Given the description of an element on the screen output the (x, y) to click on. 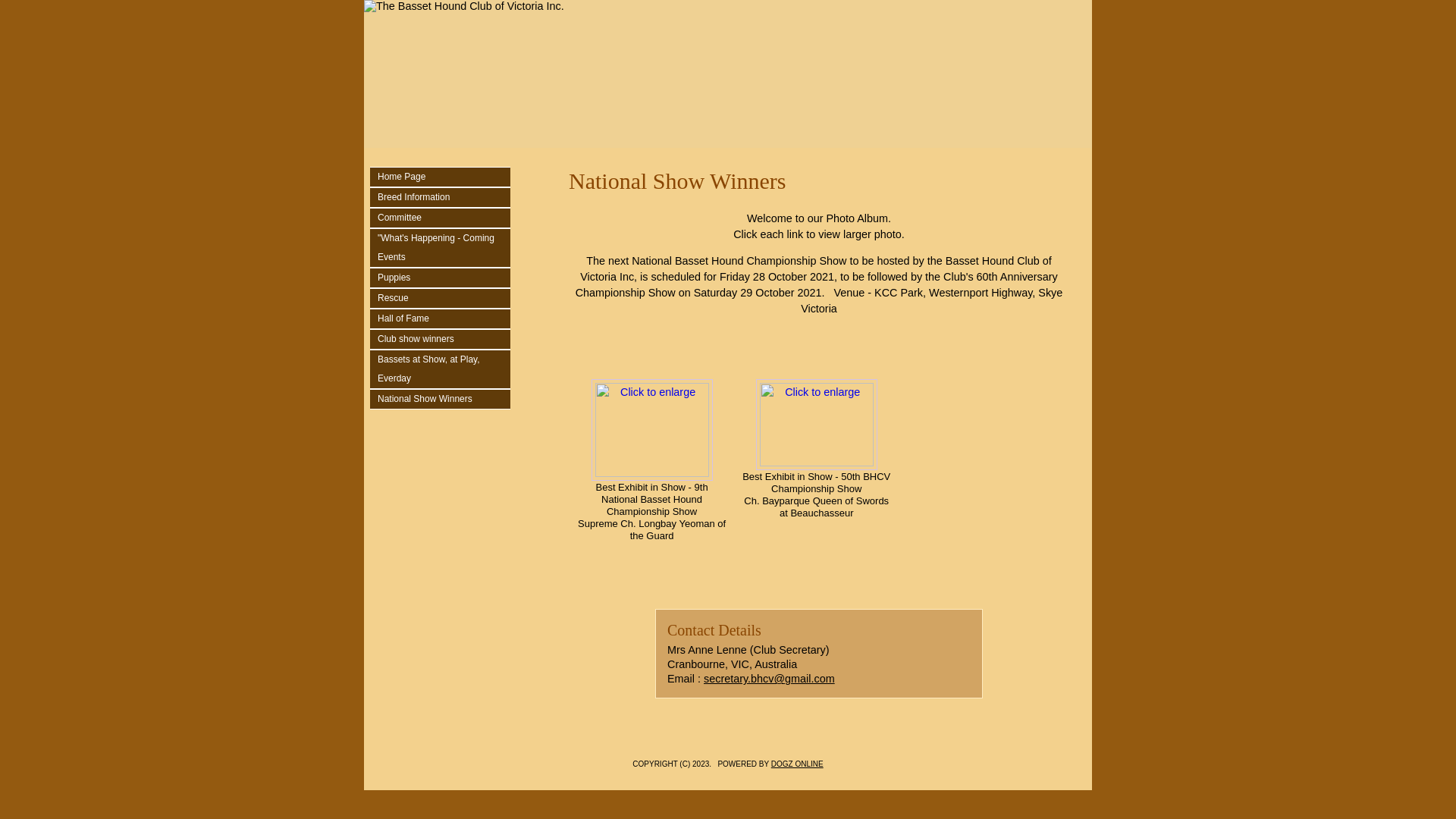
Puppies Element type: text (443, 277)
Breed Information Element type: text (443, 197)
Club show winners Element type: text (443, 338)
Click to enlarge Element type: hover (651, 429)
National Show Winners Element type: text (443, 398)
Bassets at Show, at Play, Everday Element type: text (443, 369)
DOGZ ONLINE Element type: text (797, 763)
Home Page Element type: text (443, 176)
Committee Element type: text (443, 217)
secretary.bhcv@gmail.com Element type: text (768, 678)
Hall of Fame Element type: text (443, 318)
"What's Happening - Coming Events Element type: text (443, 247)
Rescue Element type: text (443, 297)
Click to enlarge Element type: hover (816, 424)
